Given the description of an element on the screen output the (x, y) to click on. 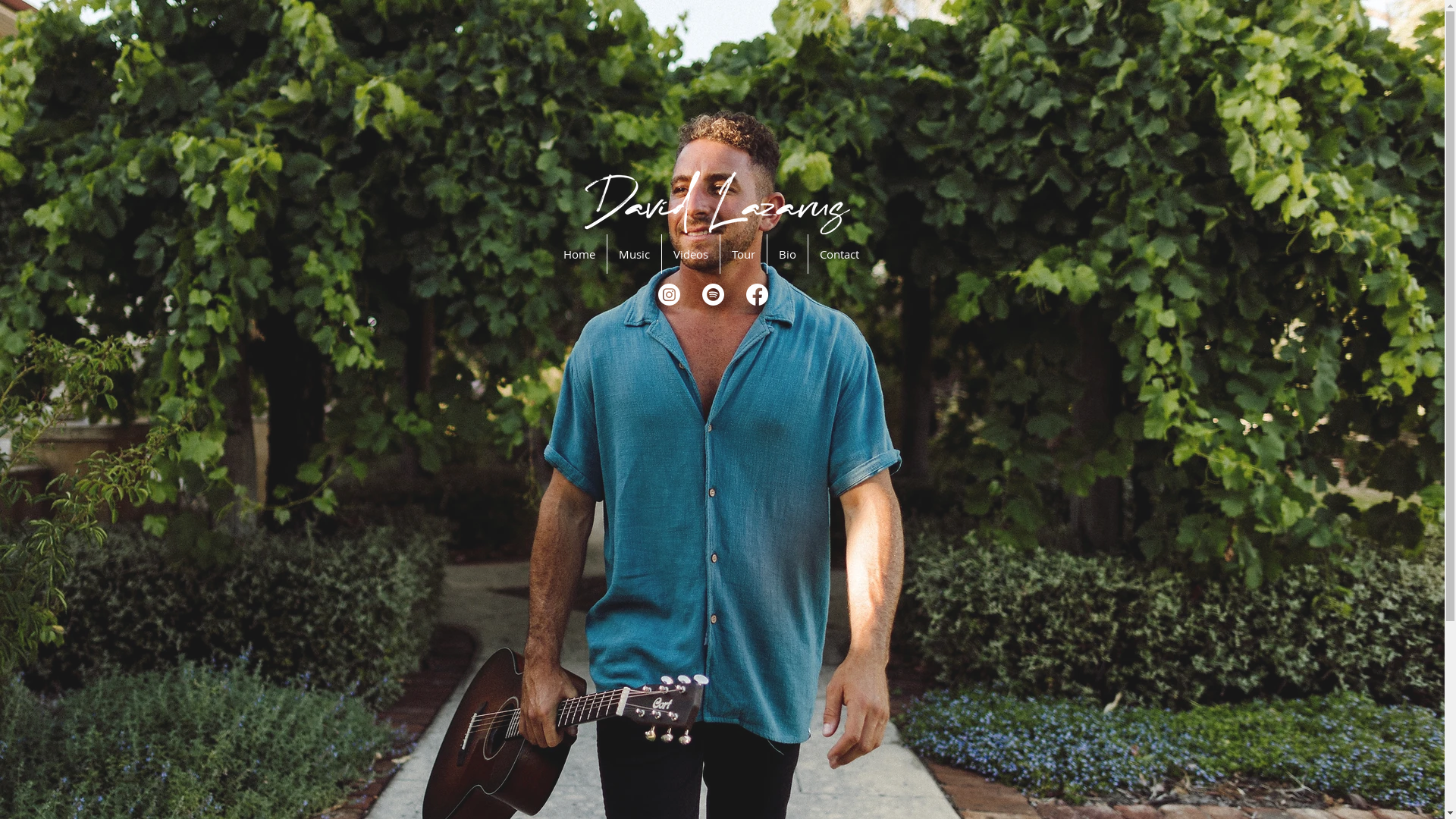
Tour Element type: text (743, 253)
Home Element type: text (579, 253)
Bio Element type: text (787, 253)
Contact Element type: text (839, 253)
Music Element type: text (633, 253)
Videos Element type: text (689, 253)
Embedded Content Element type: hover (572, 462)
